Given the description of an element on the screen output the (x, y) to click on. 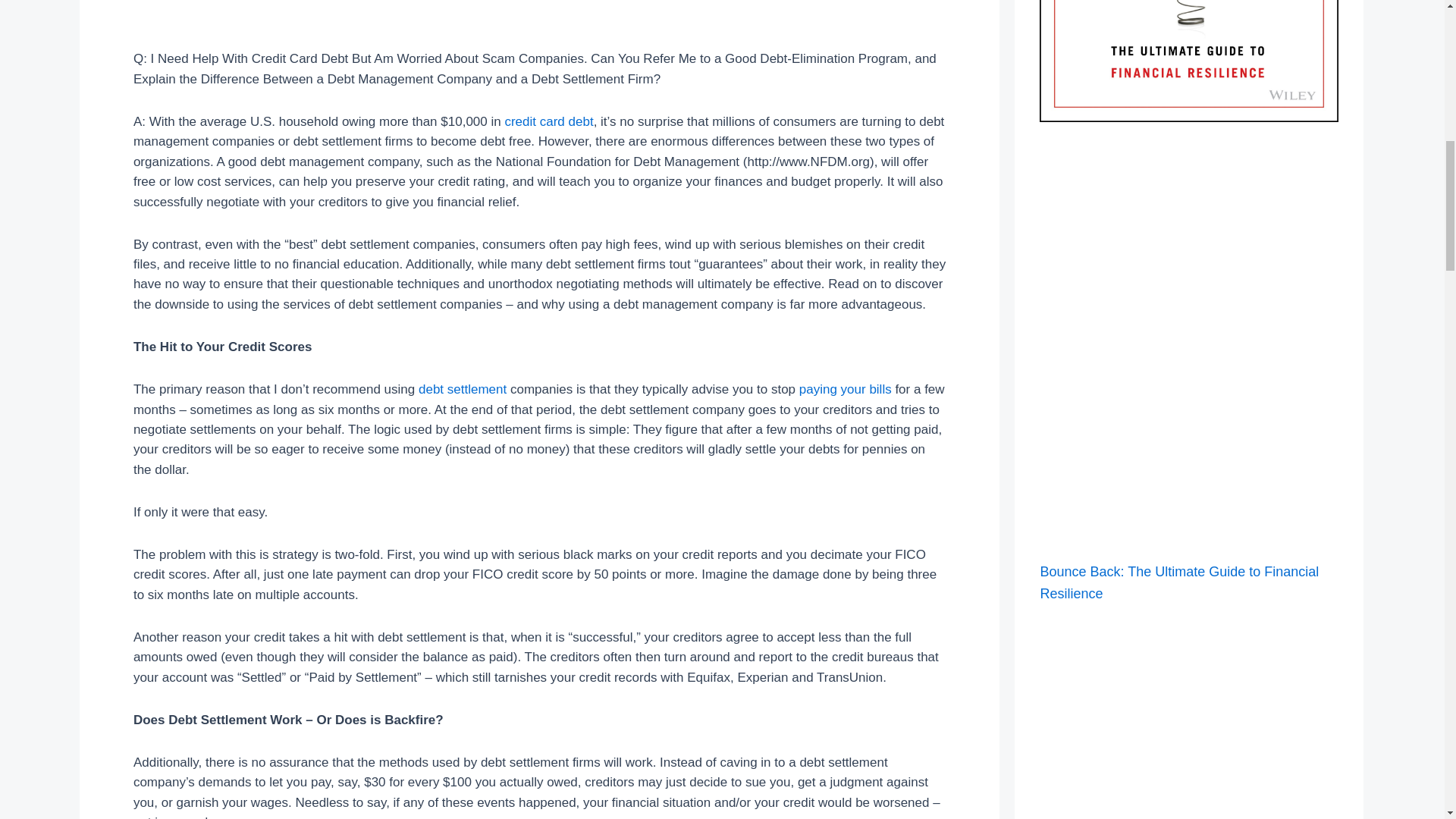
credit card debt (547, 121)
